Given the description of an element on the screen output the (x, y) to click on. 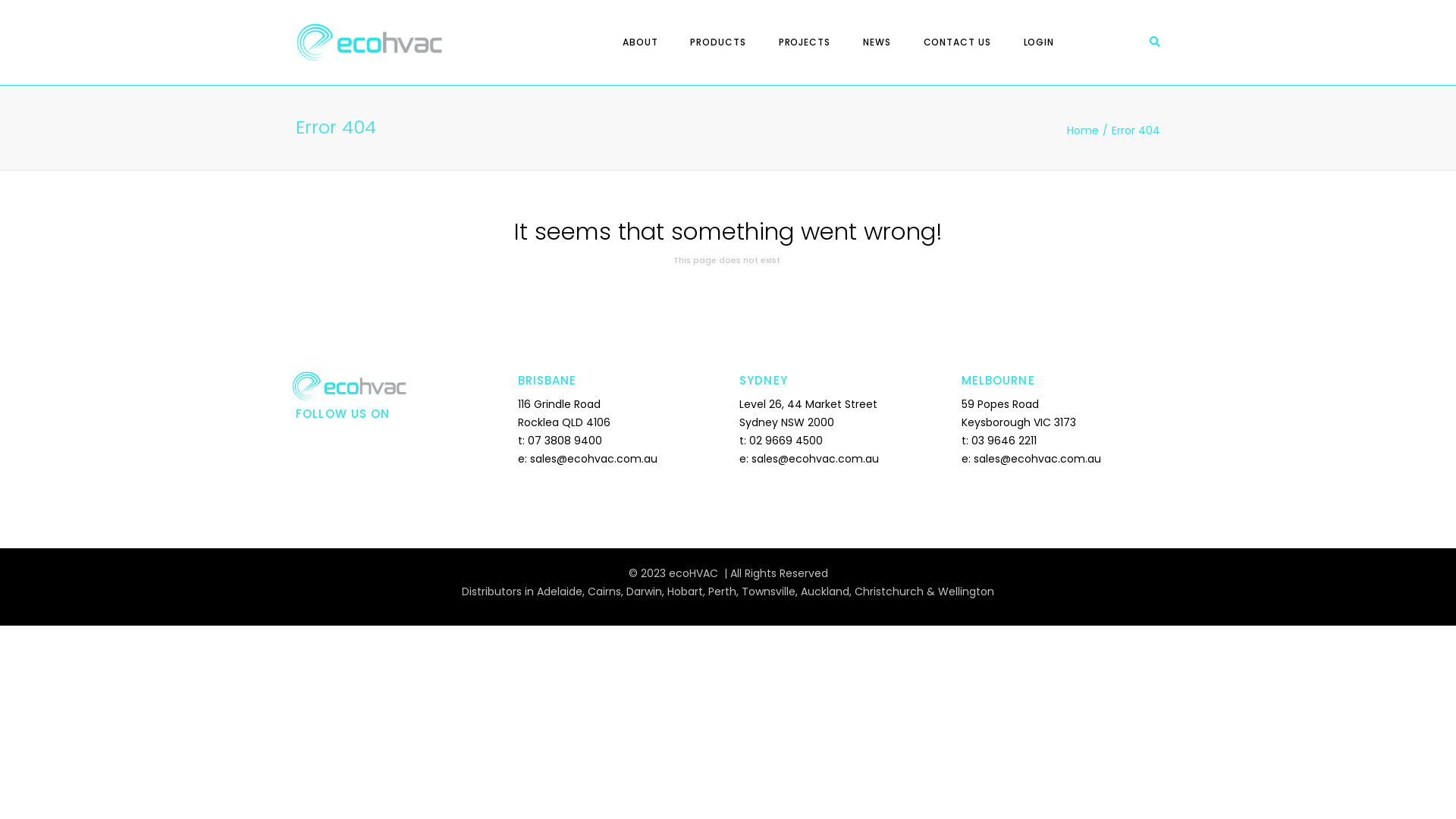
LOGIN Element type: text (1039, 42)
07 3808 9400 Element type: text (564, 440)
02 9669 4500 Element type: text (785, 440)
Home Element type: text (1088, 130)
sales@ecohvac.com.au Element type: text (592, 458)
ABOUT Element type: text (640, 42)
NEWS Element type: text (876, 42)
Search Element type: text (1154, 41)
sales@ecohvac.com.au Element type: text (814, 458)
PROJECTS Element type: text (804, 42)
CONTACT US Element type: text (957, 42)
PRODUCTS Element type: text (717, 42)
